Given the description of an element on the screen output the (x, y) to click on. 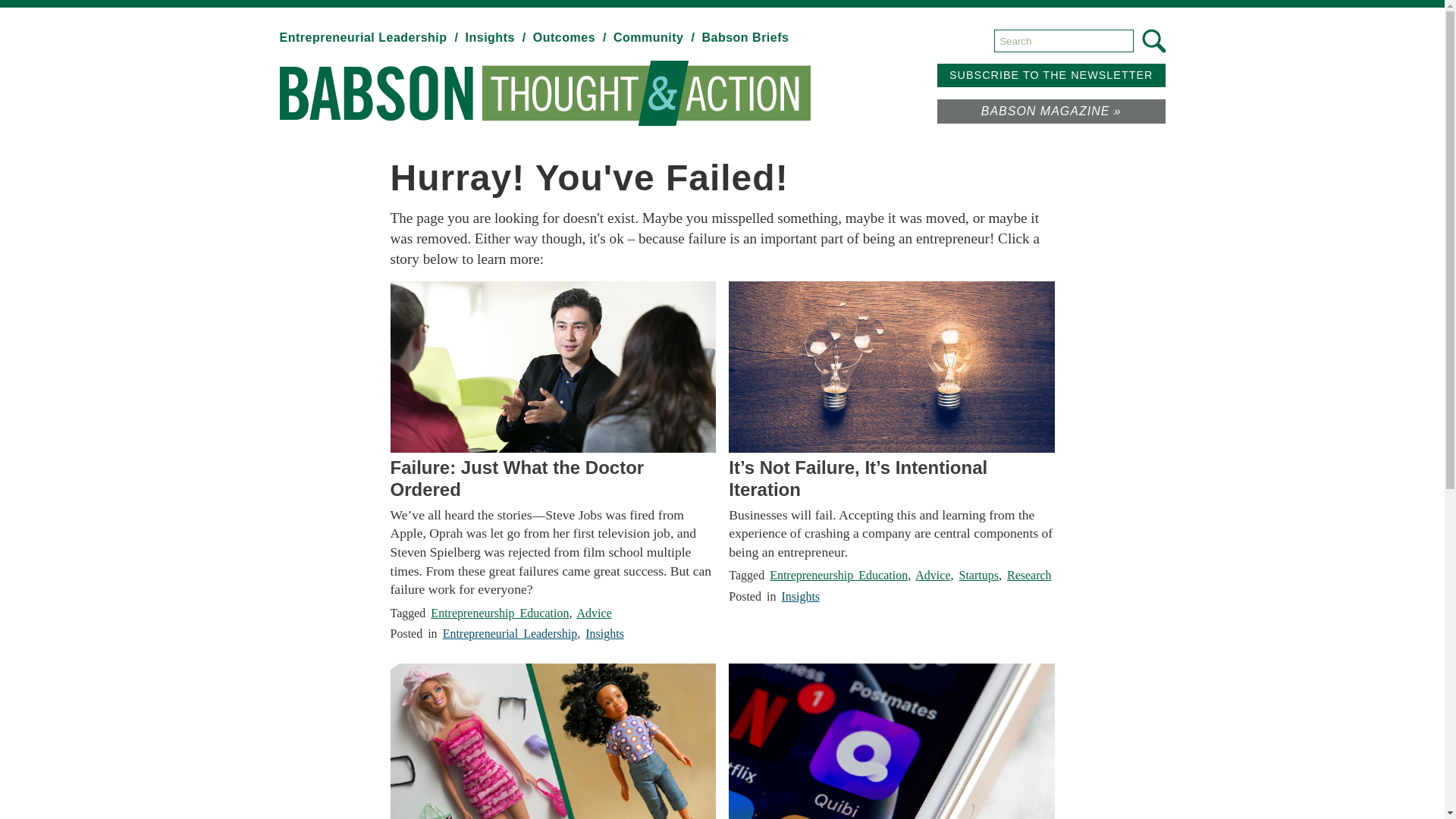
Failure: Just What the Doctor Ordered (552, 479)
Advice (593, 612)
Subscribe to our newsletter (1051, 74)
View category: Entrepreneurial Leadership (370, 37)
View category: Insights (497, 37)
Entrepreneurial Leadership (510, 633)
Insights (604, 633)
Advice (932, 574)
Entrepreneurial Leadership (370, 37)
Insights (497, 37)
